Given the description of an element on the screen output the (x, y) to click on. 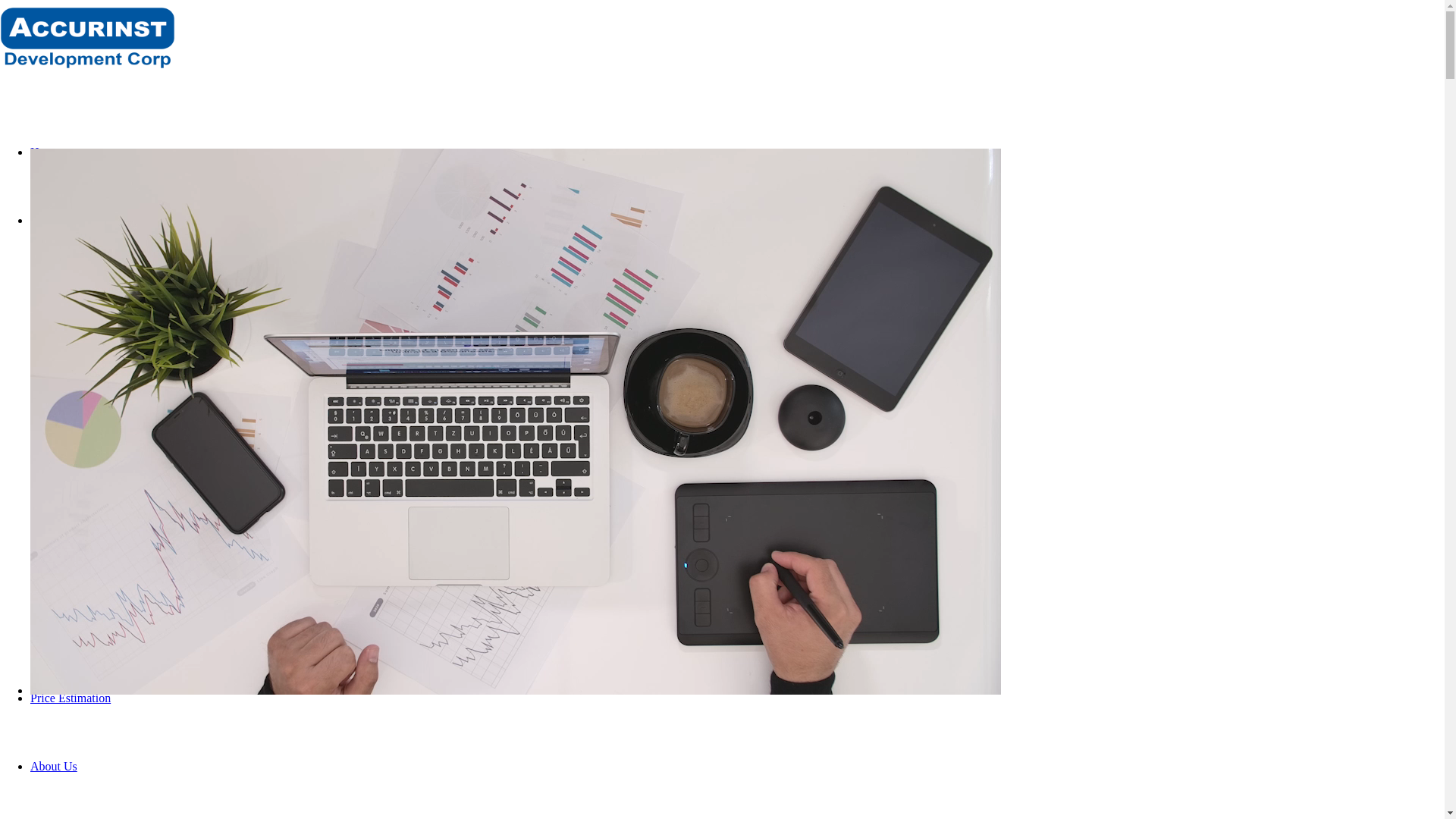
Price Estimation Element type: text (70, 697)
Marketing Strategy Element type: text (107, 288)
Video Production Element type: text (102, 561)
Creative Solutions Element type: text (105, 356)
Website Design & Development Element type: text (138, 492)
Digital Marketing Element type: text (103, 424)
About Us Element type: text (53, 765)
Business Matching Element type: text (106, 629)
Home Element type: text (44, 151)
Services Element type: text (50, 219)
